Given the description of an element on the screen output the (x, y) to click on. 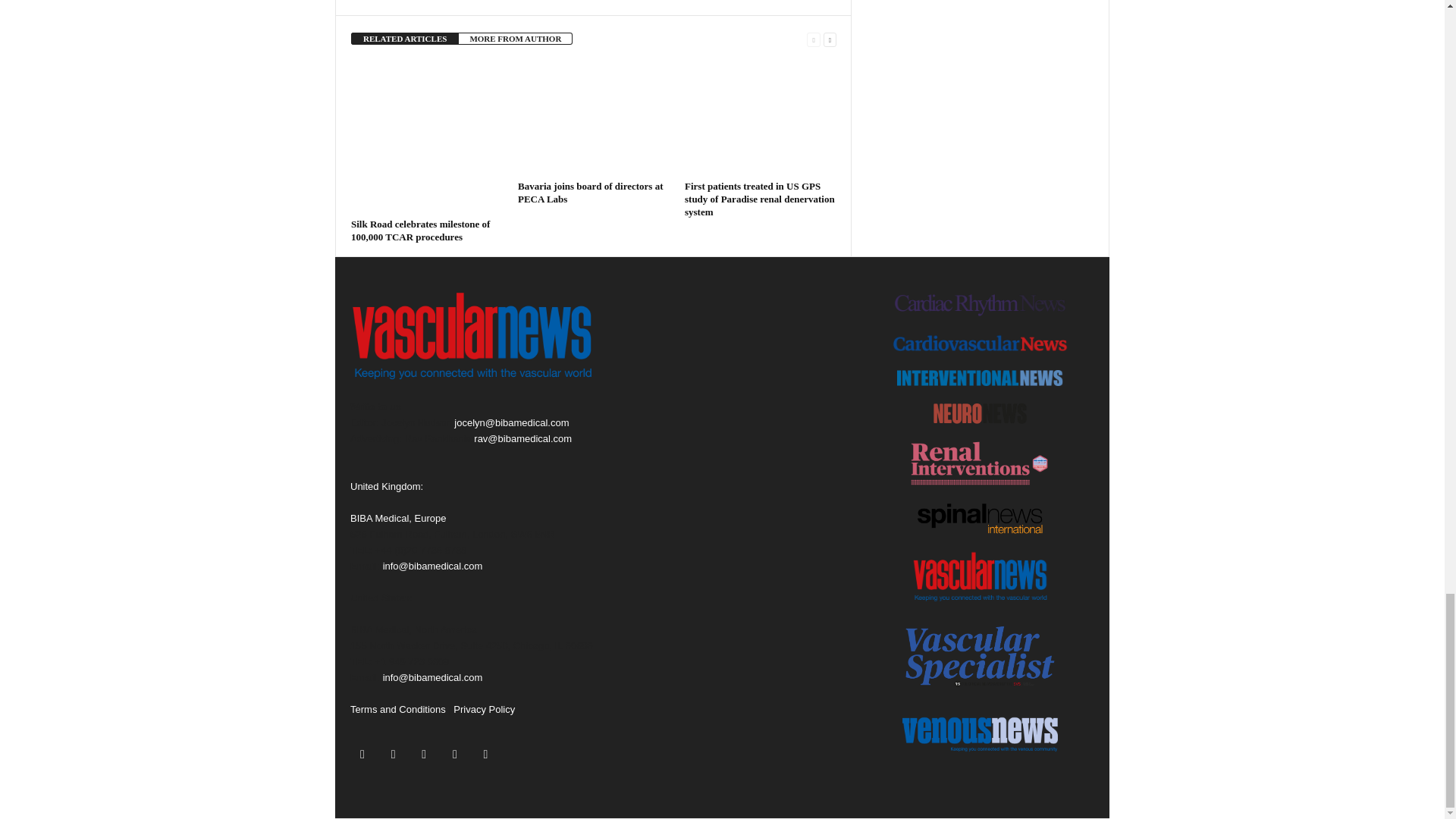
MORE FROM AUTHOR (515, 38)
RELATED ARTICLES (404, 38)
